Given the description of an element on the screen output the (x, y) to click on. 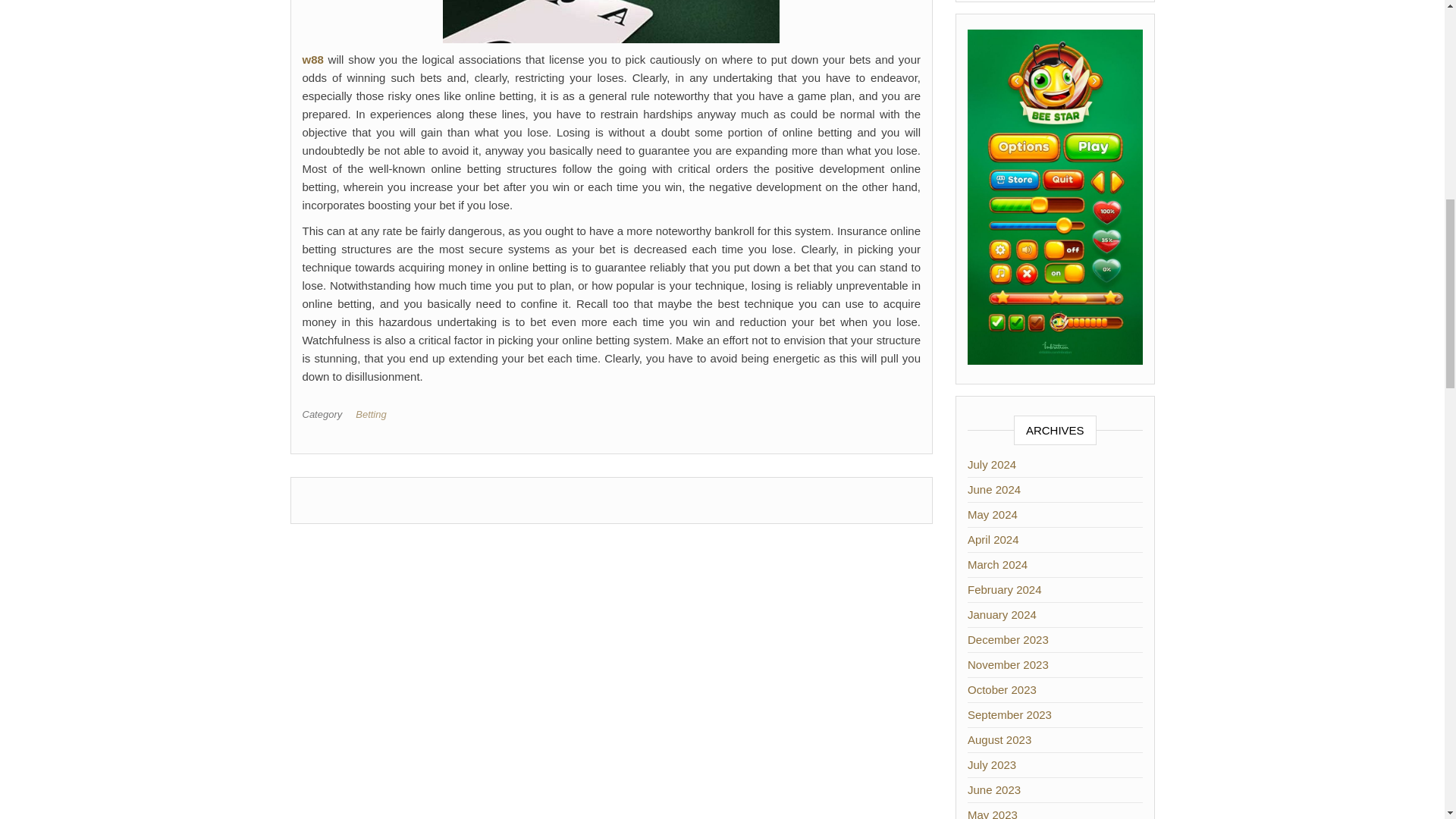
July 2024 (992, 463)
July 2023 (992, 764)
June 2023 (994, 789)
March 2024 (997, 563)
April 2024 (993, 539)
w88 (312, 59)
February 2024 (1005, 589)
August 2023 (999, 739)
December 2023 (1008, 639)
October 2023 (1002, 689)
May 2023 (992, 813)
Betting (373, 414)
September 2023 (1009, 714)
January 2024 (1002, 614)
June 2024 (994, 489)
